Given the description of an element on the screen output the (x, y) to click on. 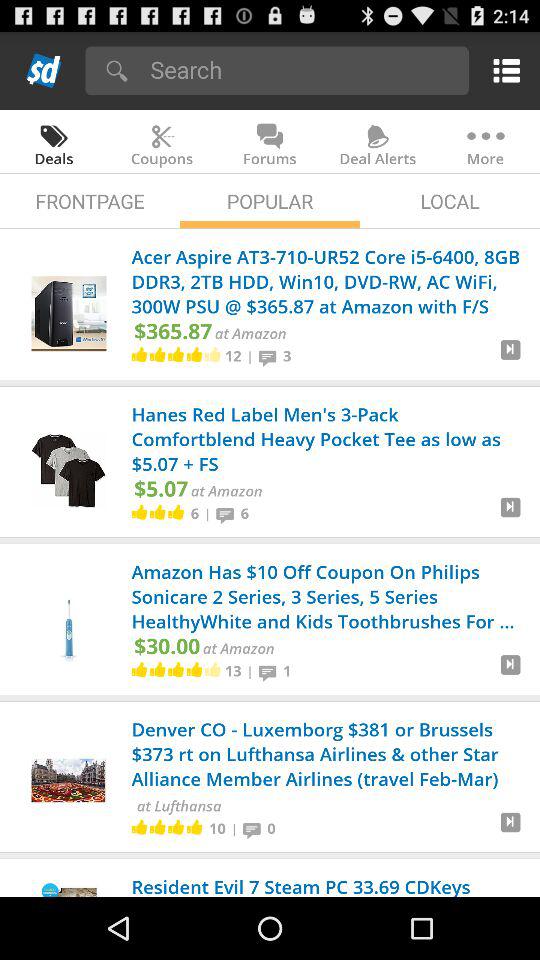
search (302, 69)
